Given the description of an element on the screen output the (x, y) to click on. 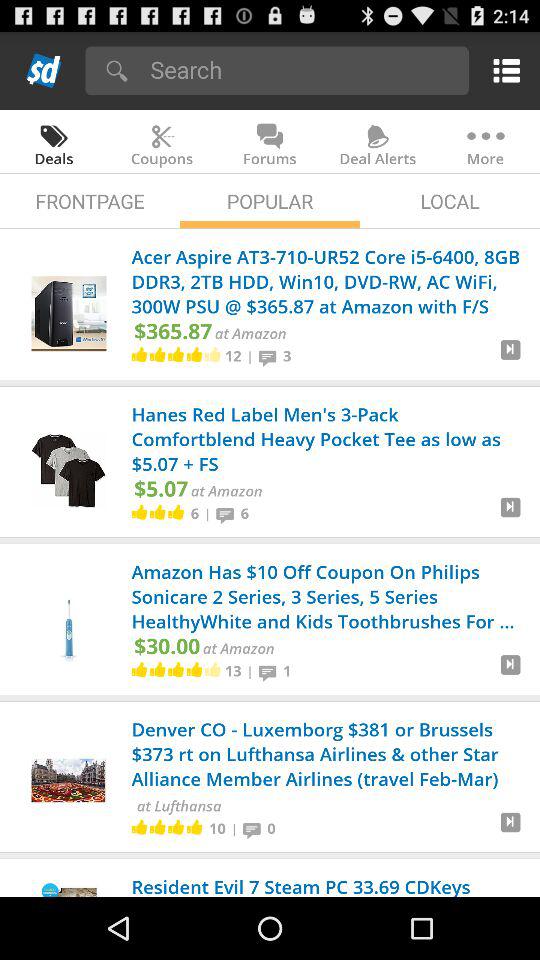
search (302, 69)
